Given the description of an element on the screen output the (x, y) to click on. 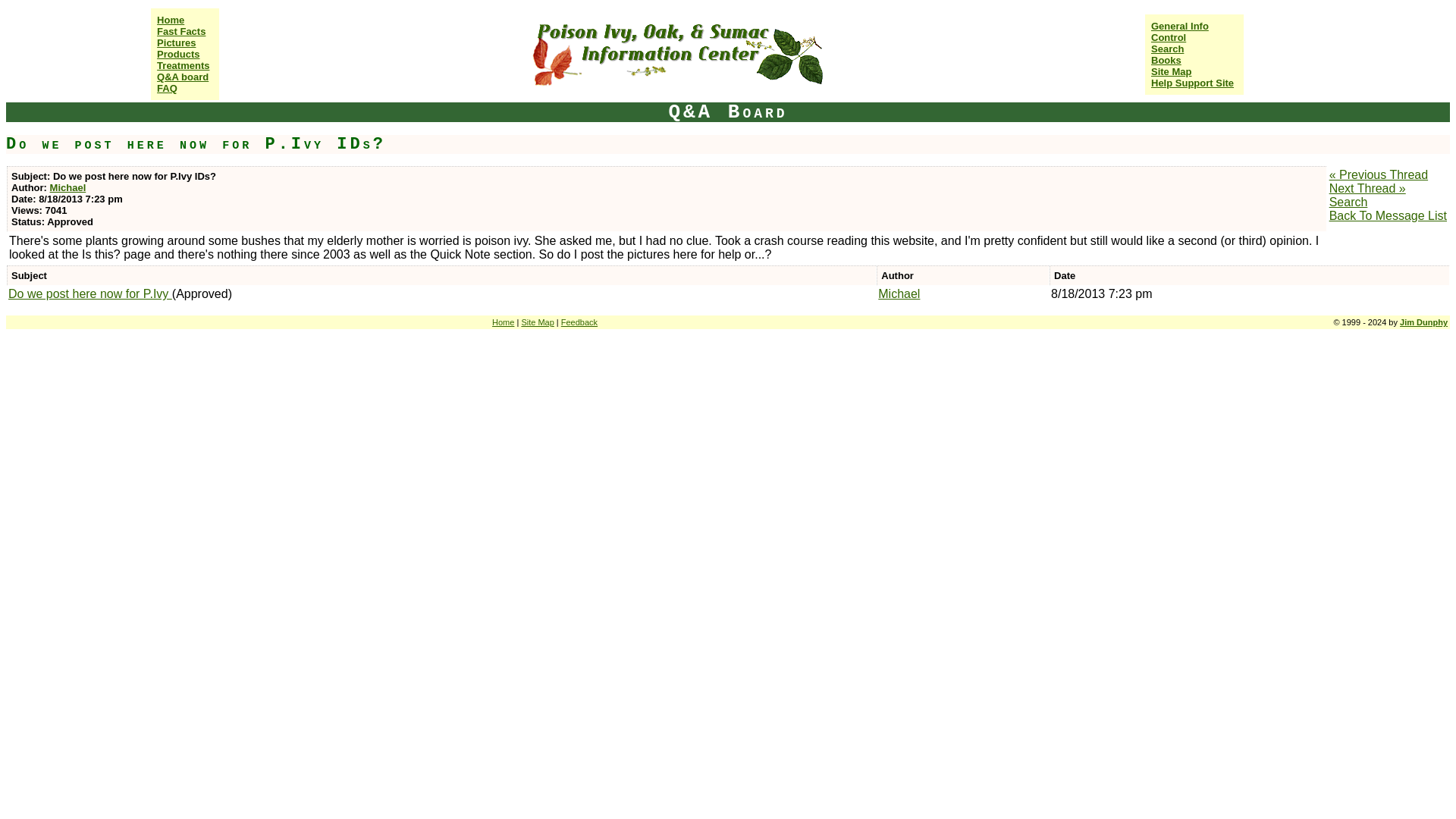
Search (1348, 201)
Home (170, 19)
General Info (1179, 25)
Michael (67, 187)
Do we post here now for P.Ivy (89, 293)
Site Map (537, 321)
Michael (898, 293)
Search (1167, 48)
Treatments (183, 65)
FAQ (167, 88)
Feedback (578, 321)
Control (1168, 37)
Back To Message List (1388, 215)
Pictures (176, 42)
Books (1165, 60)
